Given the description of an element on the screen output the (x, y) to click on. 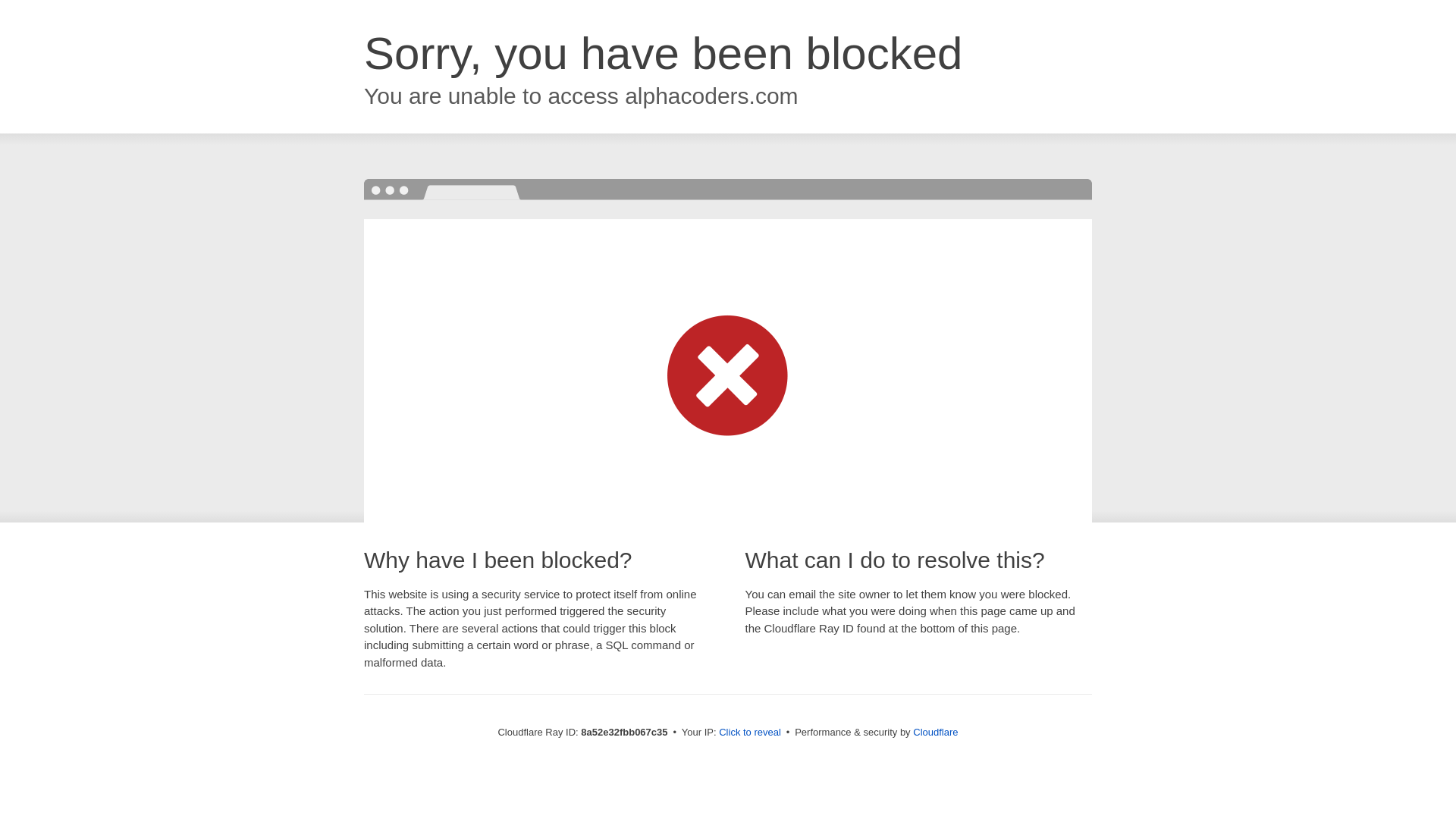
Click to reveal (749, 732)
Cloudflare (935, 731)
